Given the description of an element on the screen output the (x, y) to click on. 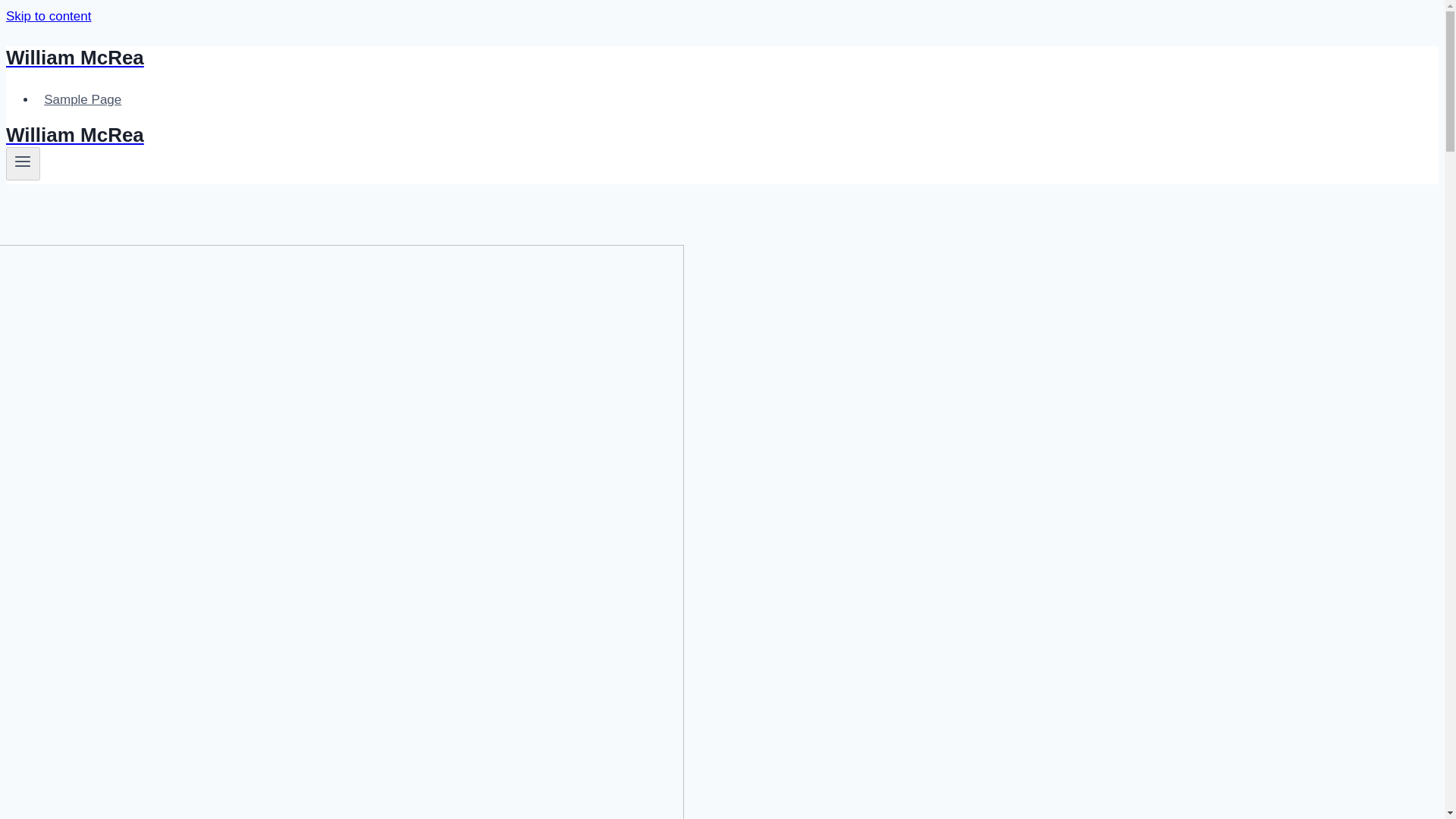
William McRea (494, 135)
Skip to content (47, 16)
Toggle Menu (22, 161)
Skip to content (47, 16)
Sample Page (82, 99)
Toggle Menu (22, 163)
William McRea (494, 57)
